Given the description of an element on the screen output the (x, y) to click on. 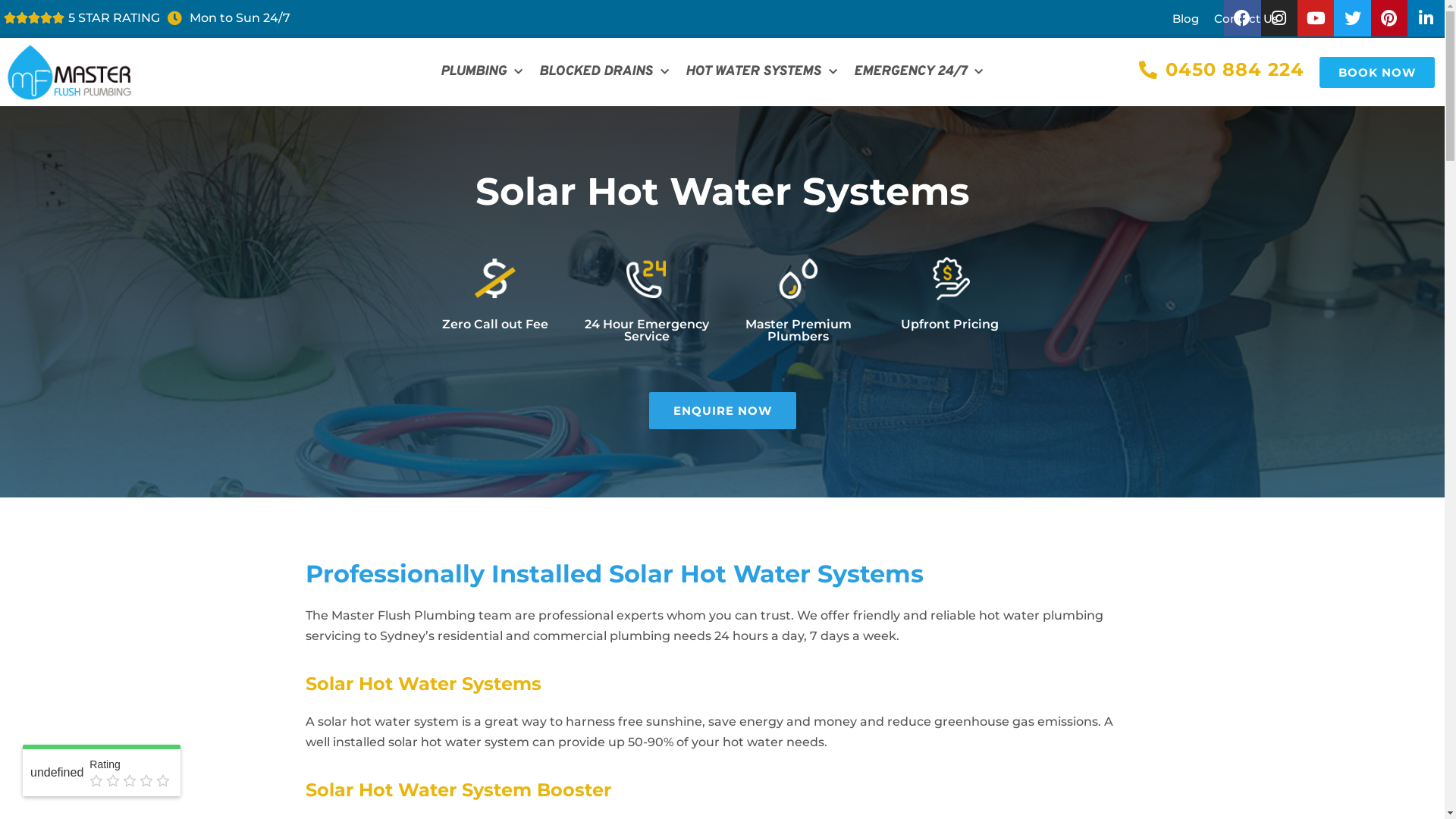
EMERGENCY 24/7 Element type: text (918, 71)
BLOCKED DRAINS Element type: text (603, 71)
t-free Element type: hover (494, 278)
ENQUIRE NOW Element type: text (722, 410)
BOOK NOW Element type: text (1376, 71)
HOT WATER SYSTEMS Element type: text (760, 71)
t-premium Element type: hover (797, 278)
PLUMBING Element type: text (481, 71)
Contact Us Element type: text (1246, 18)
0450 884 224 Element type: text (1221, 69)
t-upfront Element type: hover (949, 278)
Blog Element type: text (1185, 18)
t-24hr Element type: hover (646, 278)
